Given the description of an element on the screen output the (x, y) to click on. 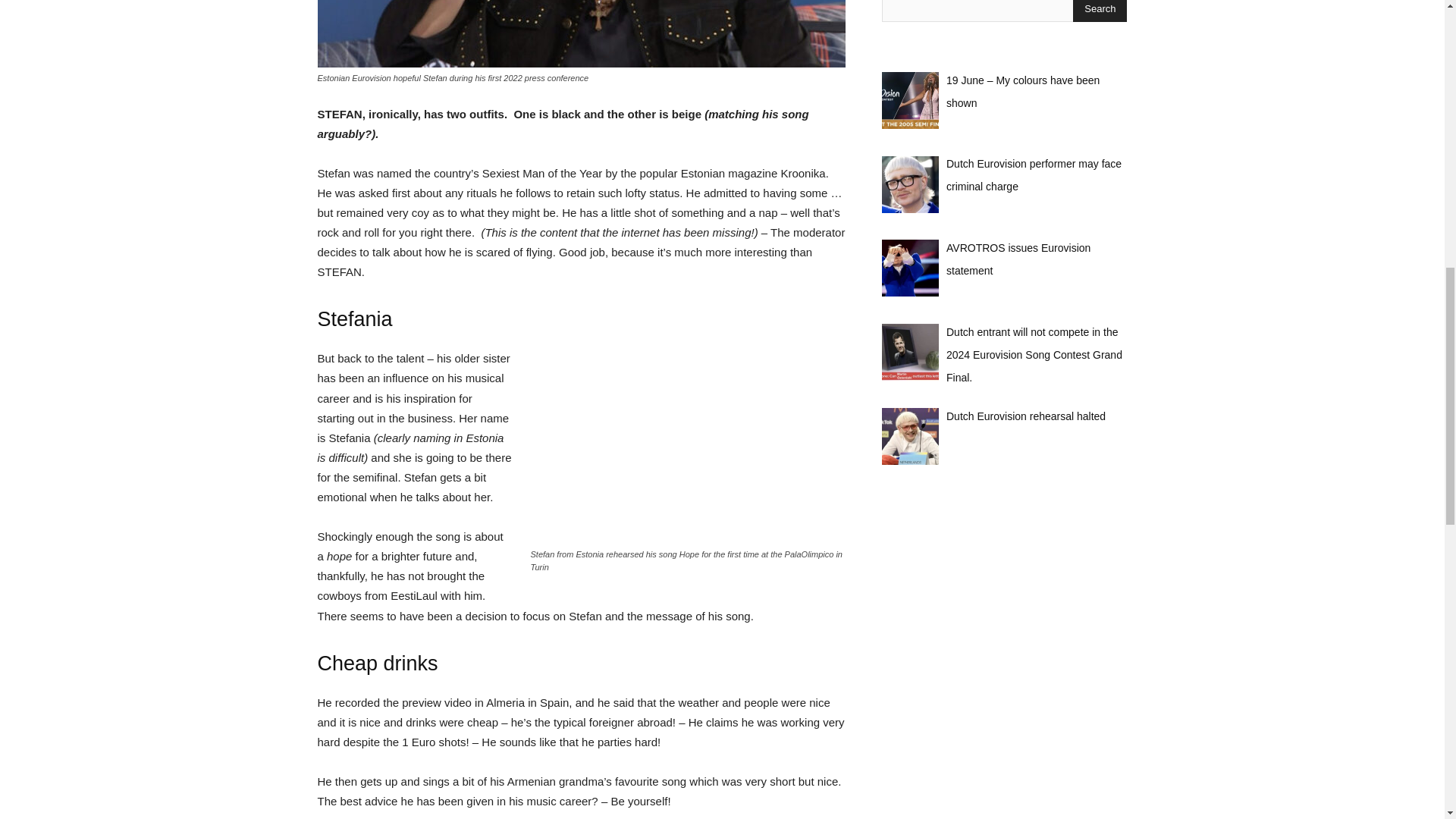
Search (1099, 11)
